Given the description of an element on the screen output the (x, y) to click on. 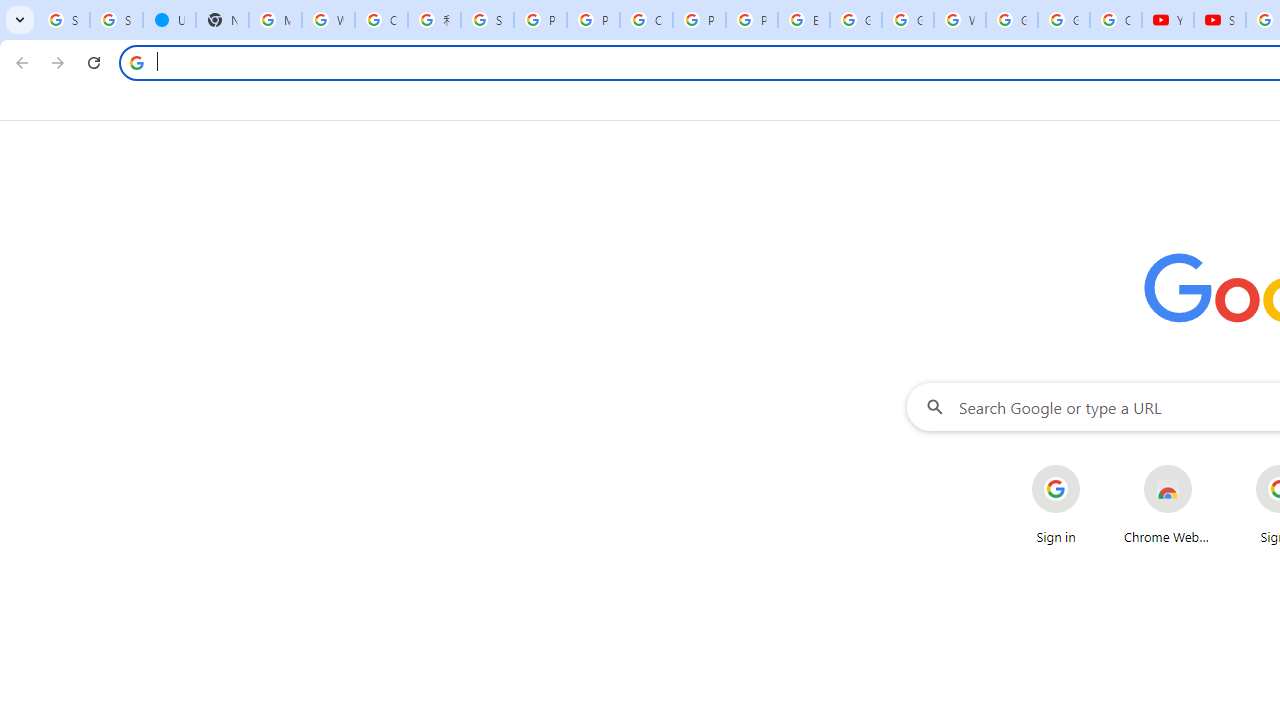
More actions for Sign in shortcut (1095, 466)
Google Account (1064, 20)
Sign in - Google Accounts (487, 20)
Who is my administrator? - Google Account Help (328, 20)
YouTube (1167, 20)
Sign in - Google Accounts (116, 20)
More actions for Chrome Web Store shortcut (1208, 466)
Create your Google Account (381, 20)
Subscriptions - YouTube (1219, 20)
